Given the description of an element on the screen output the (x, y) to click on. 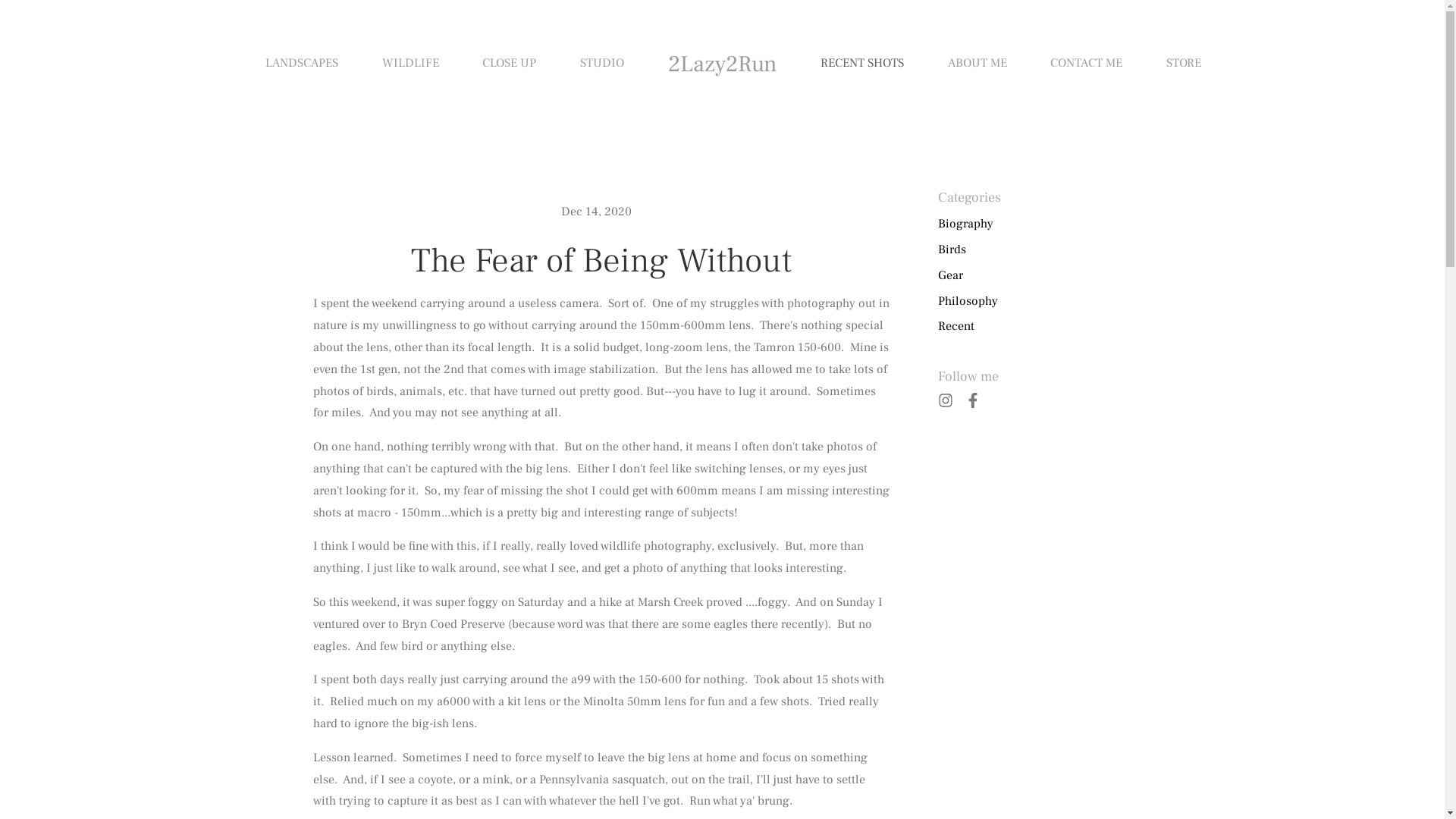
LANDSCAPES Element type: text (301, 63)
Biography Element type: text (964, 224)
Recent Element type: text (955, 326)
CONTACT ME Element type: text (1086, 63)
RECENT SHOTS Element type: text (861, 63)
Birds Element type: text (951, 249)
WILDLIFE Element type: text (410, 63)
CLOSE UP Element type: text (509, 63)
Philosophy Element type: text (967, 301)
2Lazy2Run Element type: text (721, 63)
STUDIO Element type: text (602, 63)
ABOUT ME Element type: text (977, 63)
STORE Element type: text (1183, 63)
Gear Element type: text (949, 275)
